Given the description of an element on the screen output the (x, y) to click on. 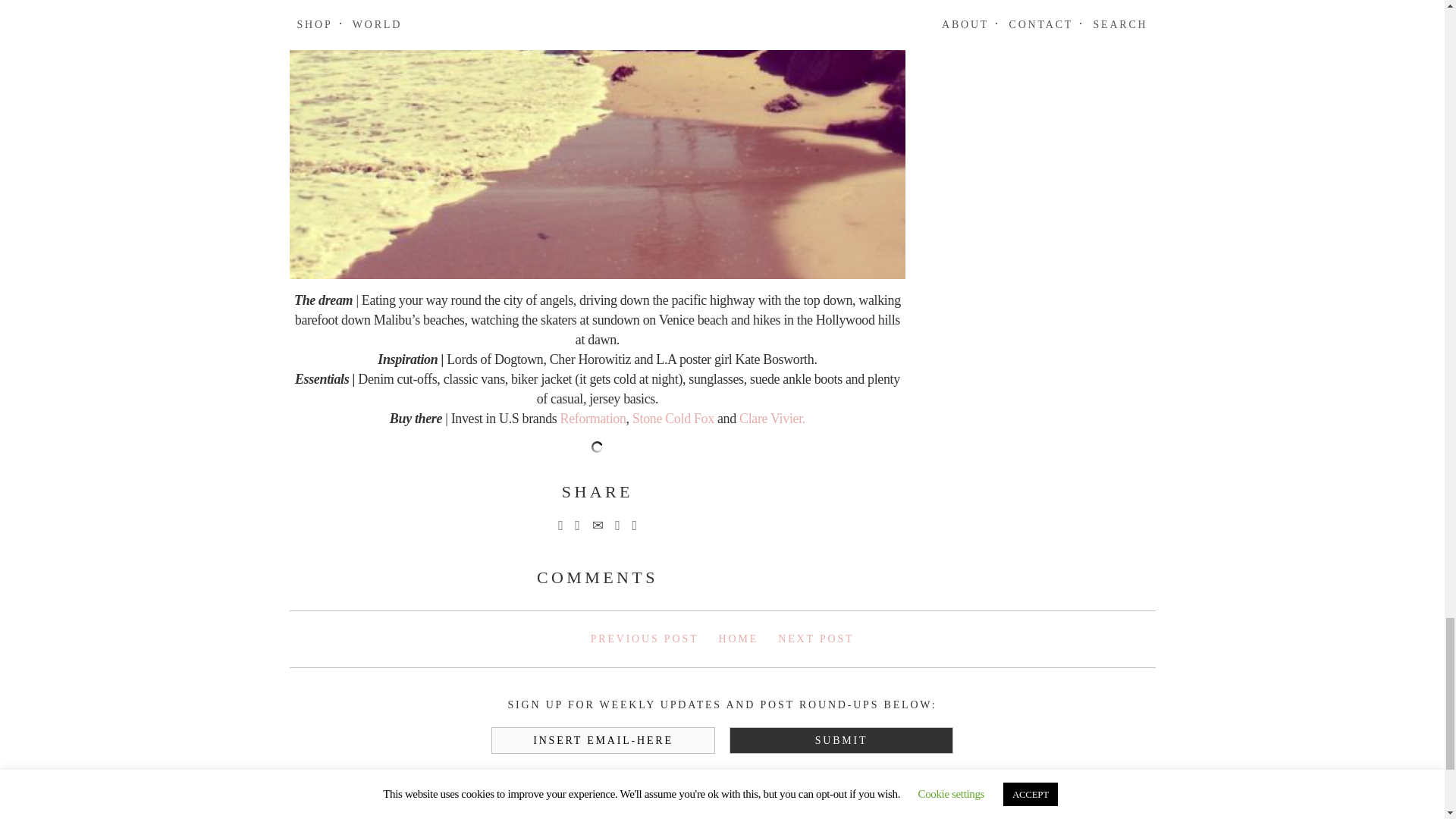
Clare Vivier. (772, 418)
Reformation (593, 418)
Stone Cold Fox (672, 418)
